Given the description of an element on the screen output the (x, y) to click on. 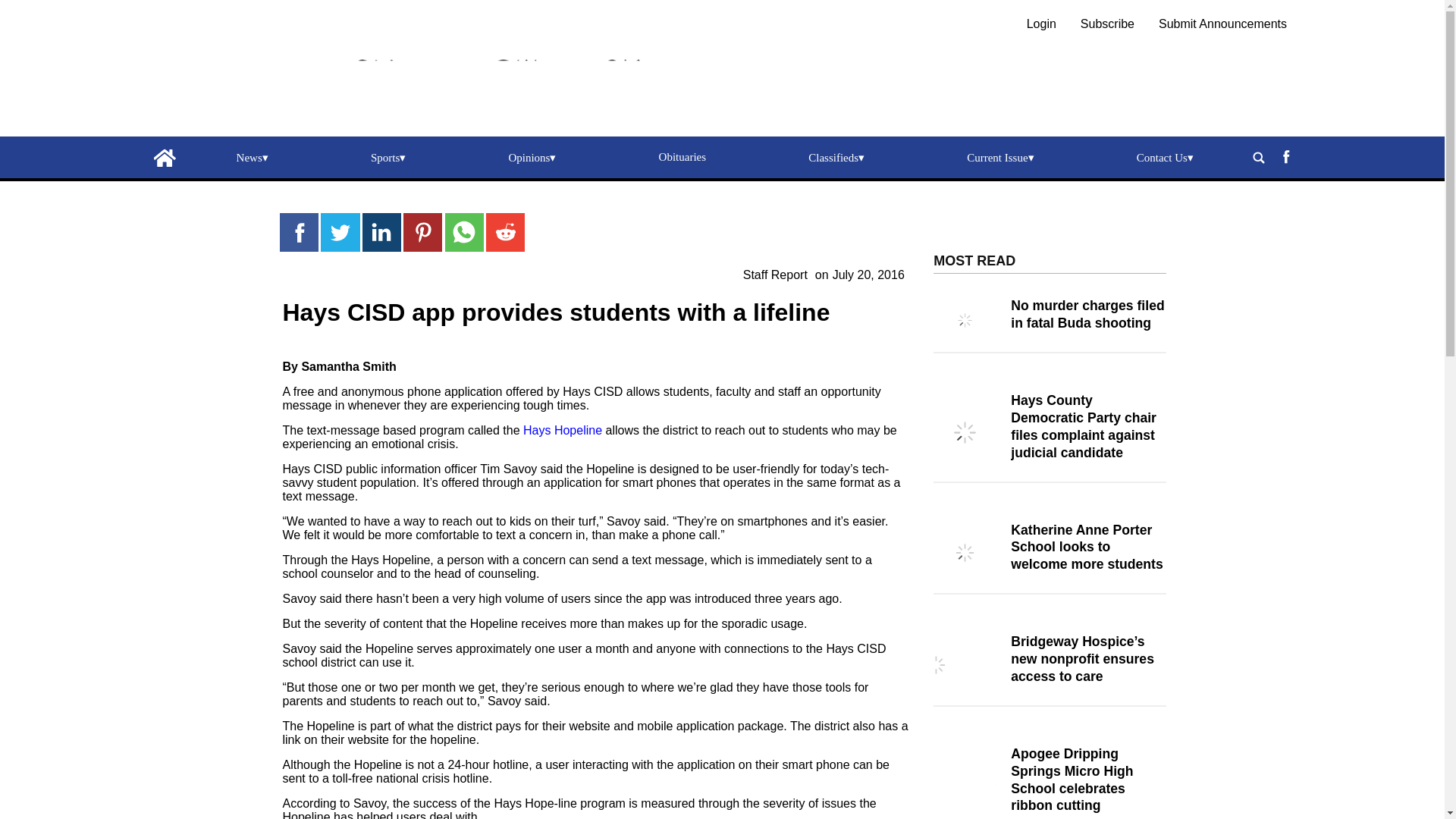
Subscribe (1107, 23)
News (251, 157)
Submit Announcements (1222, 23)
Weather Widget (1049, 225)
Login (1041, 23)
